Given the description of an element on the screen output the (x, y) to click on. 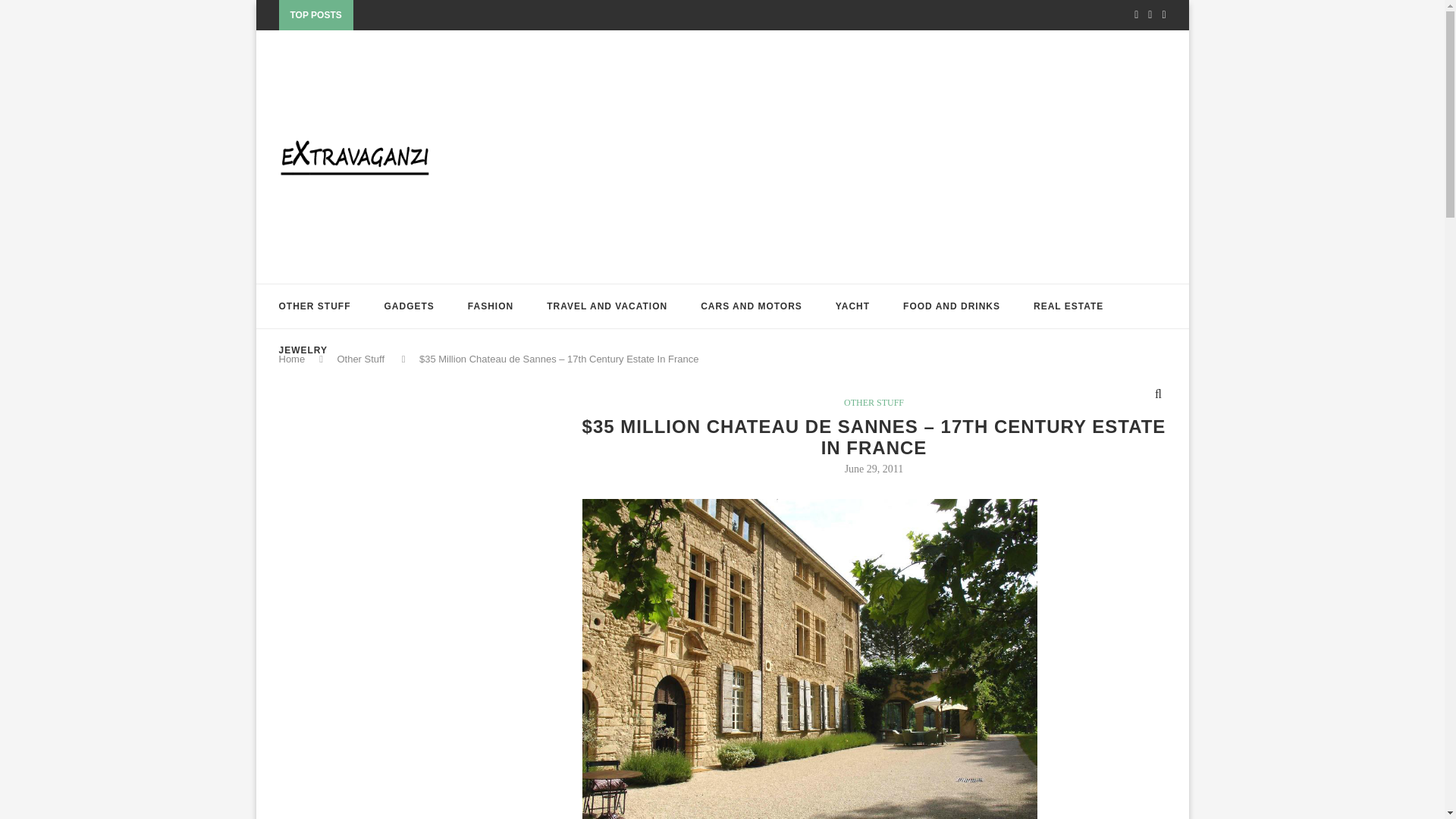
View all posts in Other Stuff (874, 402)
CARS AND MOTORS (751, 306)
Home (292, 358)
Chateau de Sannes (817, 504)
FASHION (490, 306)
GADGETS (408, 306)
FOOD AND DRINKS (951, 306)
JEWELRY (304, 350)
REAL ESTATE (1068, 306)
TRAVEL AND VACATION (606, 306)
OTHER STUFF (314, 306)
